Given the description of an element on the screen output the (x, y) to click on. 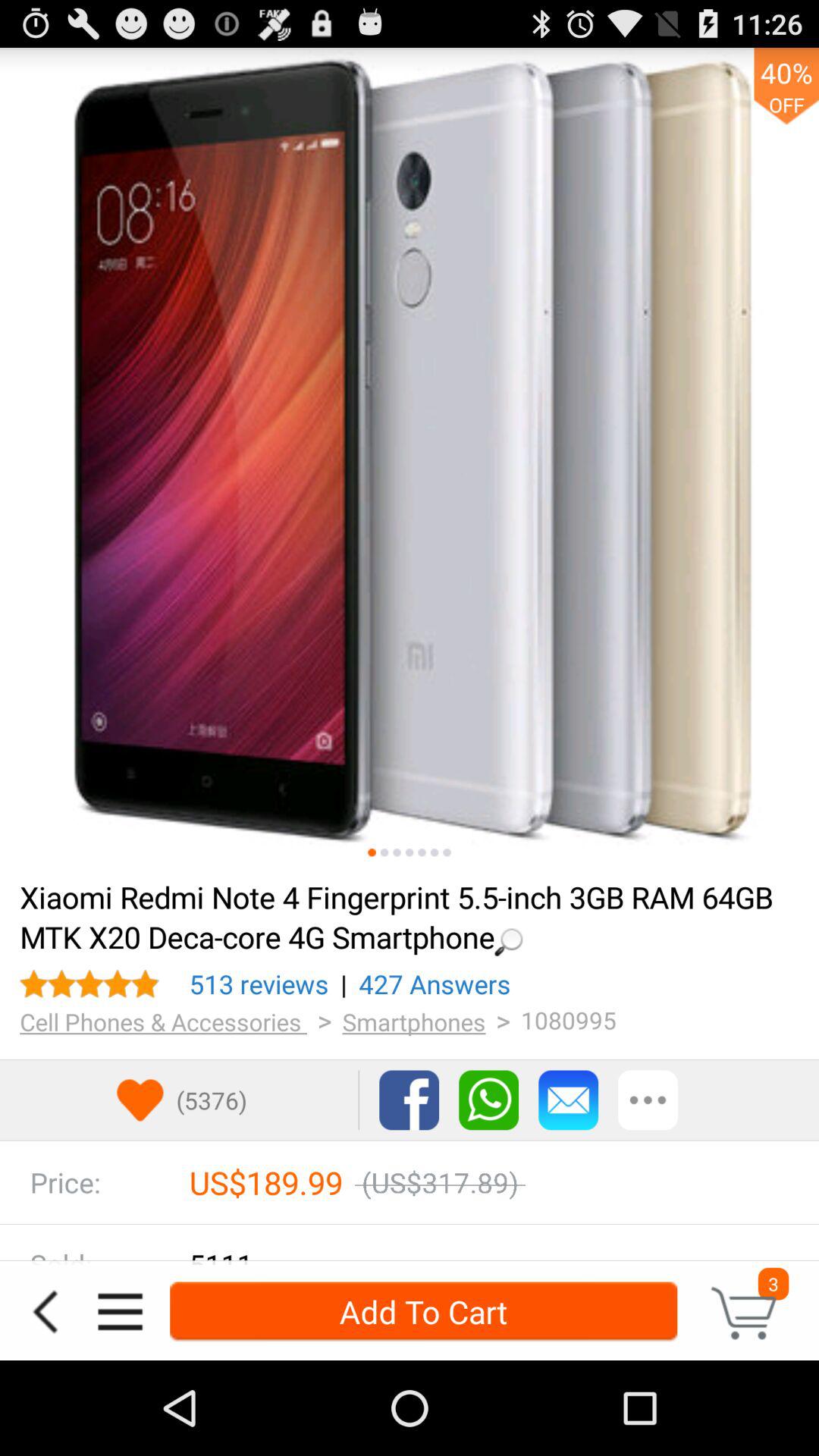
show the selected image (409, 852)
